Given the description of an element on the screen output the (x, y) to click on. 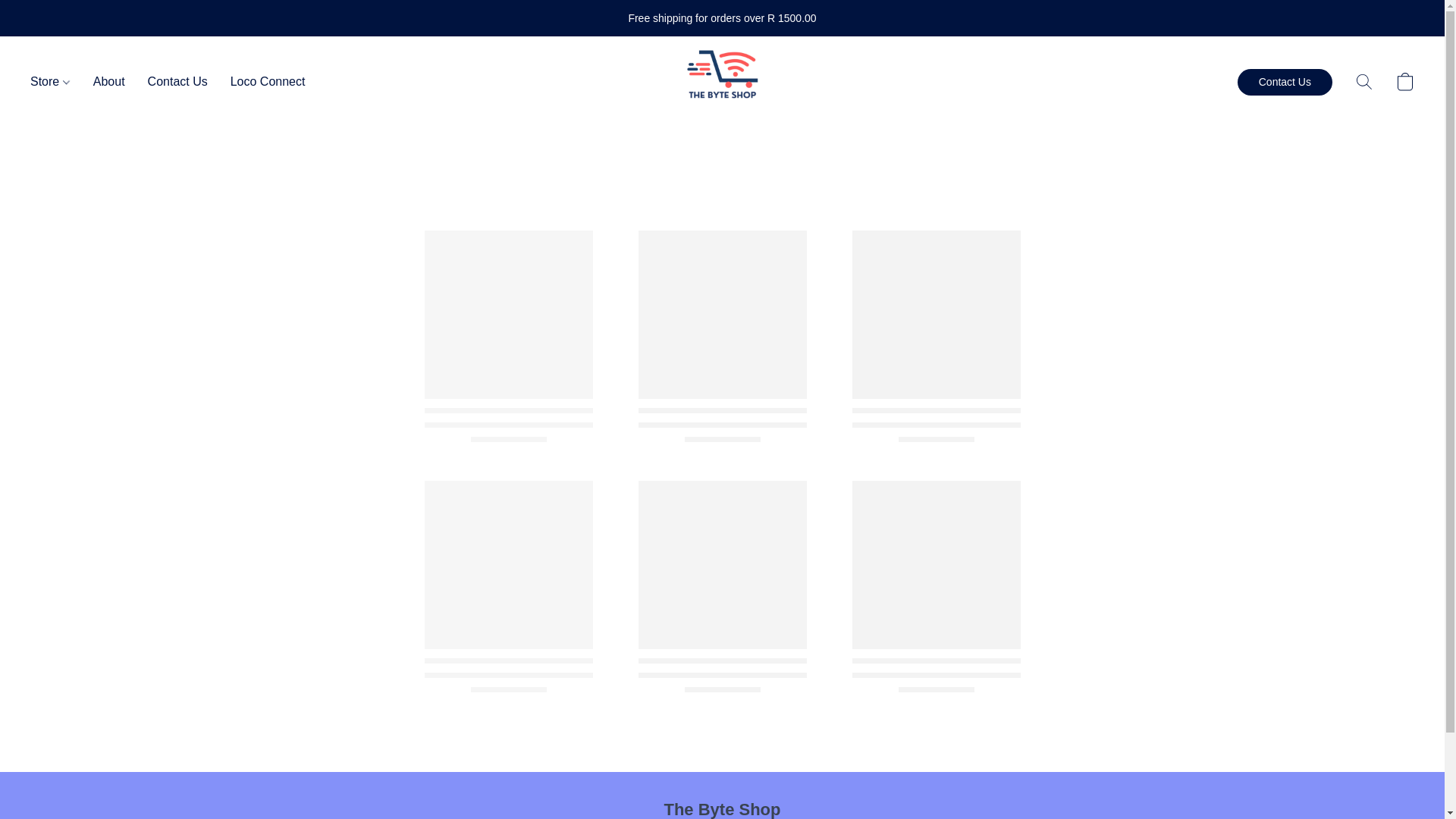
Contact Us (1284, 81)
Search the website (1363, 81)
Store (55, 81)
Contact Us (177, 81)
Loco Connect (262, 81)
About (108, 81)
Go to your shopping cart (1404, 81)
